Given the description of an element on the screen output the (x, y) to click on. 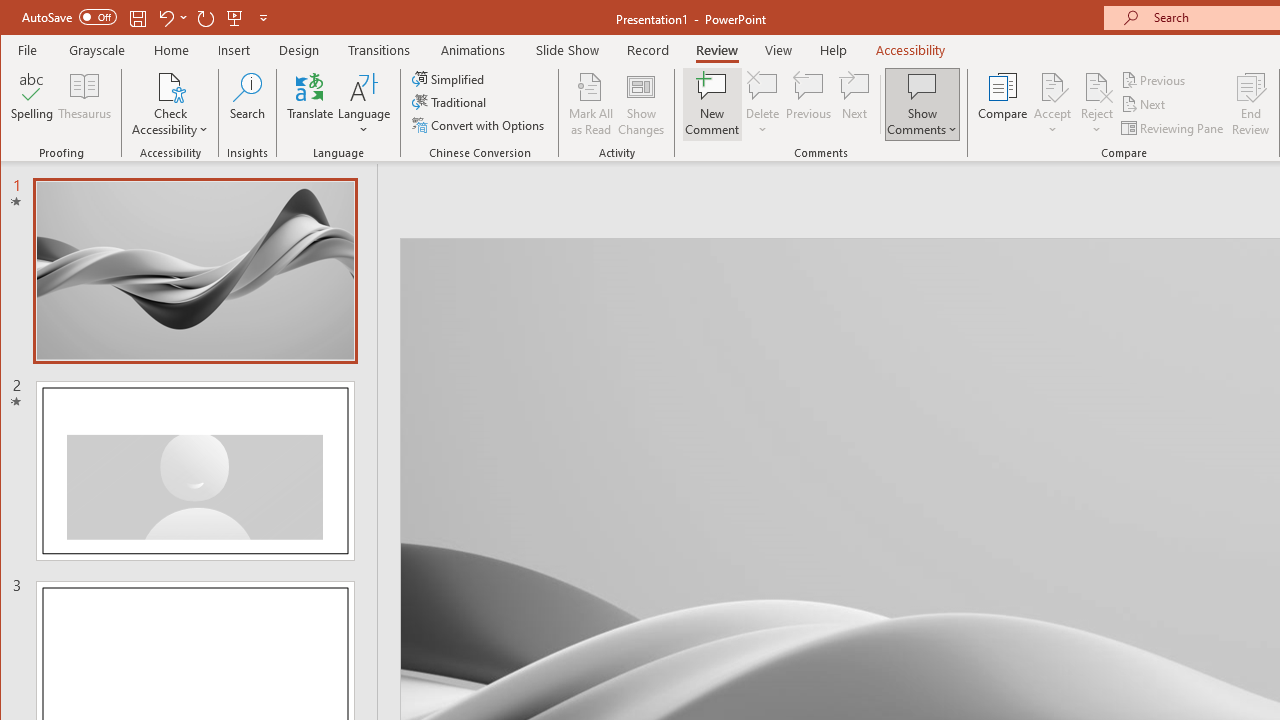
New Comment (712, 104)
Accept Change (1052, 86)
Mark All as Read (591, 104)
